Given the description of an element on the screen output the (x, y) to click on. 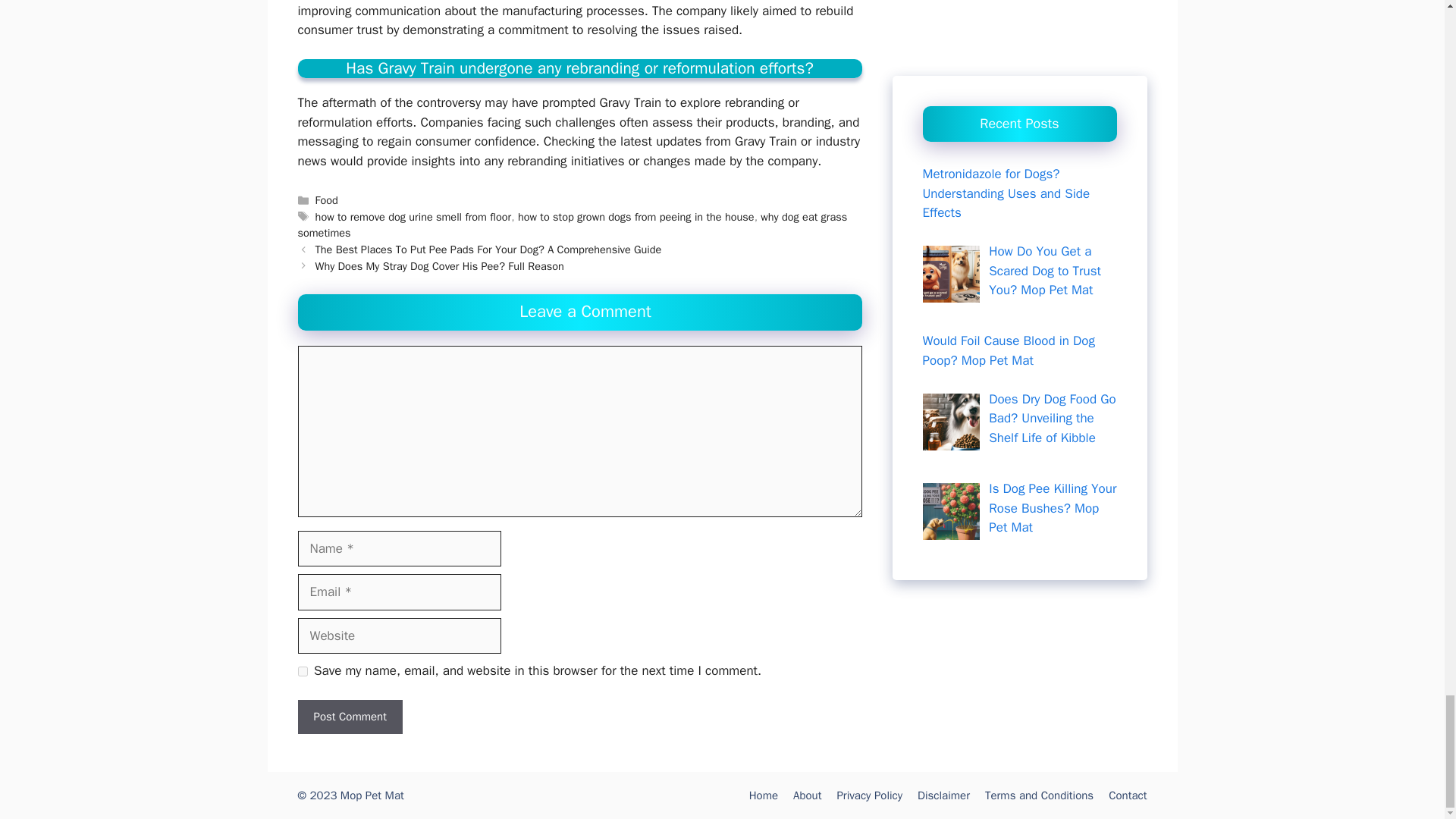
why dog eat grass sometimes (572, 224)
Terms and Conditions (1039, 795)
Contact (1127, 795)
how to remove dog urine smell from floor (413, 216)
Why Does My Stray Dog Cover His Pee? Full Reason (439, 265)
About (807, 795)
Disclaimer (943, 795)
Post Comment (349, 716)
Food (326, 200)
yes (302, 671)
Home (763, 795)
Post Comment (349, 716)
Privacy Policy (868, 795)
how to stop grown dogs from peeing in the house (636, 216)
